Given the description of an element on the screen output the (x, y) to click on. 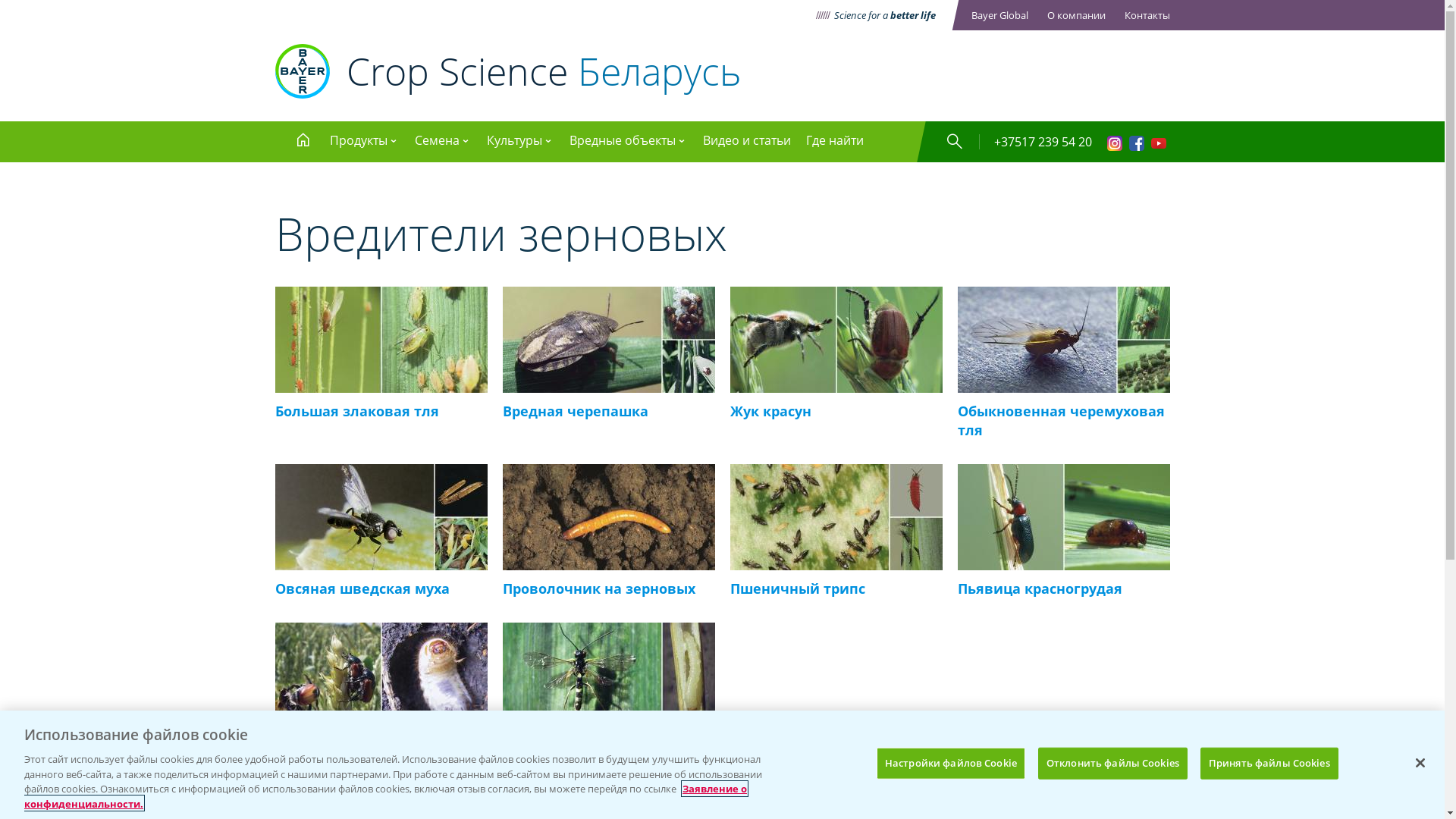
instagram Element type: text (1115, 145)
+37517 239 54 20 Element type: text (1042, 141)
youtube Element type: text (1159, 145)
facebook Element type: text (1136, 145)
Bayer Global Element type: text (998, 15)
Bayer Element type: text (301, 70)
